Given the description of an element on the screen output the (x, y) to click on. 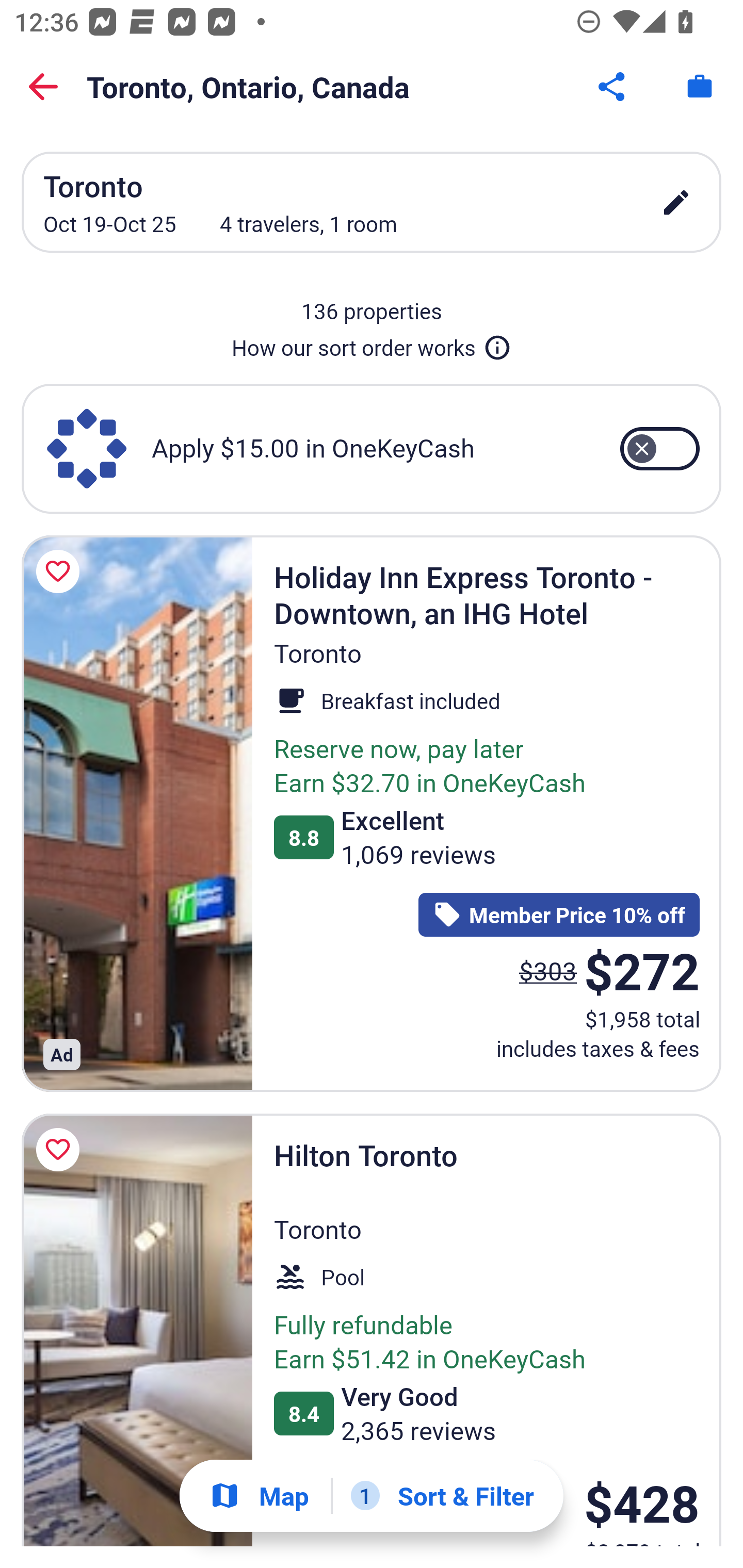
Back (43, 86)
Share Button (612, 86)
Trips. Button (699, 86)
Toronto Oct 19-Oct 25 4 travelers, 1 room edit (371, 202)
How our sort order works (371, 344)
$303 The price was $303 (547, 970)
Save Hilton Toronto to a trip (61, 1150)
Hilton Toronto (136, 1329)
1 Sort & Filter 1 Filter applied. Filters Button (442, 1495)
Show map Map Show map Button (258, 1495)
